Given the description of an element on the screen output the (x, y) to click on. 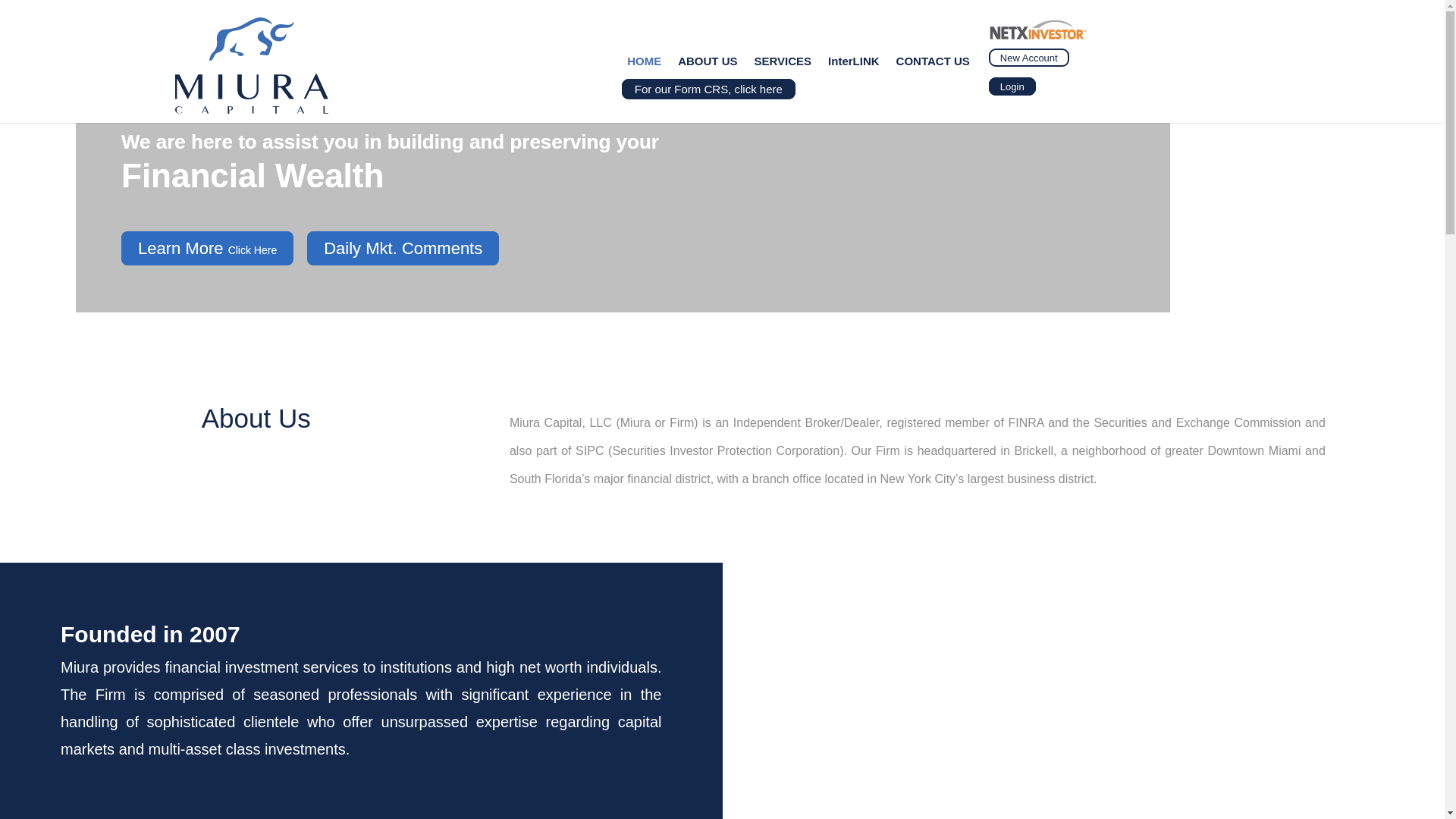
ABOUT US (707, 65)
New Account (1028, 57)
CONTACT US (932, 65)
Daily Mkt. Comments (403, 247)
For our Form CRS, click here (707, 88)
Login (1011, 85)
SERVICES (782, 65)
InterLINK (853, 65)
HOME (644, 65)
Learn More Click Here (207, 247)
